Given the description of an element on the screen output the (x, y) to click on. 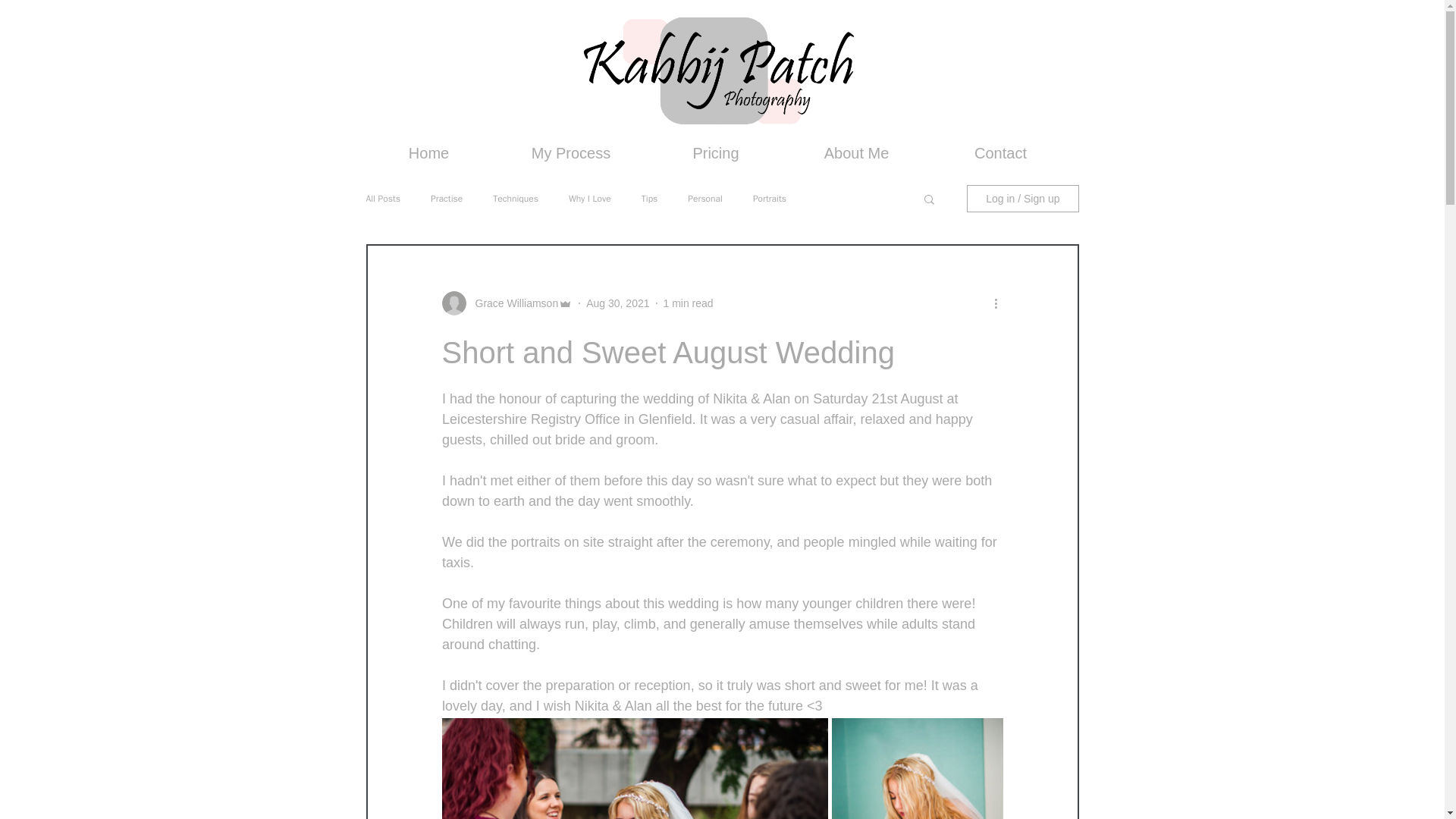
Tips (650, 198)
All Posts (382, 198)
Pricing (714, 153)
About Me (855, 153)
Why I Love (590, 198)
1 min read (687, 303)
Contact (1000, 153)
Portraits (769, 198)
Home (428, 153)
Personal (704, 198)
My Process (570, 153)
KP-Logo-Transparant.gif (718, 70)
Grace Williamson (511, 303)
Aug 30, 2021 (617, 303)
Practise (446, 198)
